Given the description of an element on the screen output the (x, y) to click on. 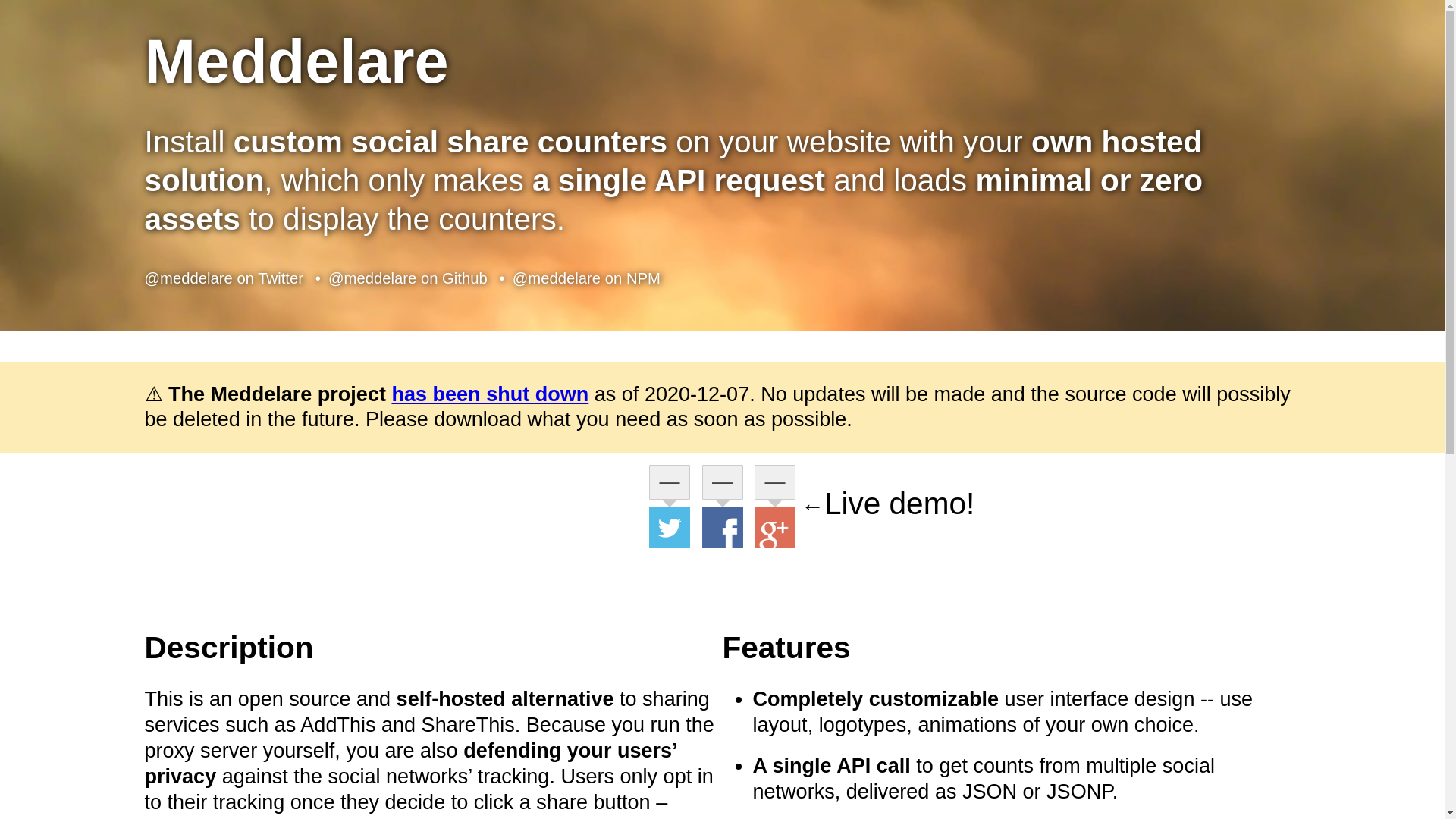
has been shut down (489, 394)
Meddelare (296, 61)
